Given the description of an element on the screen output the (x, y) to click on. 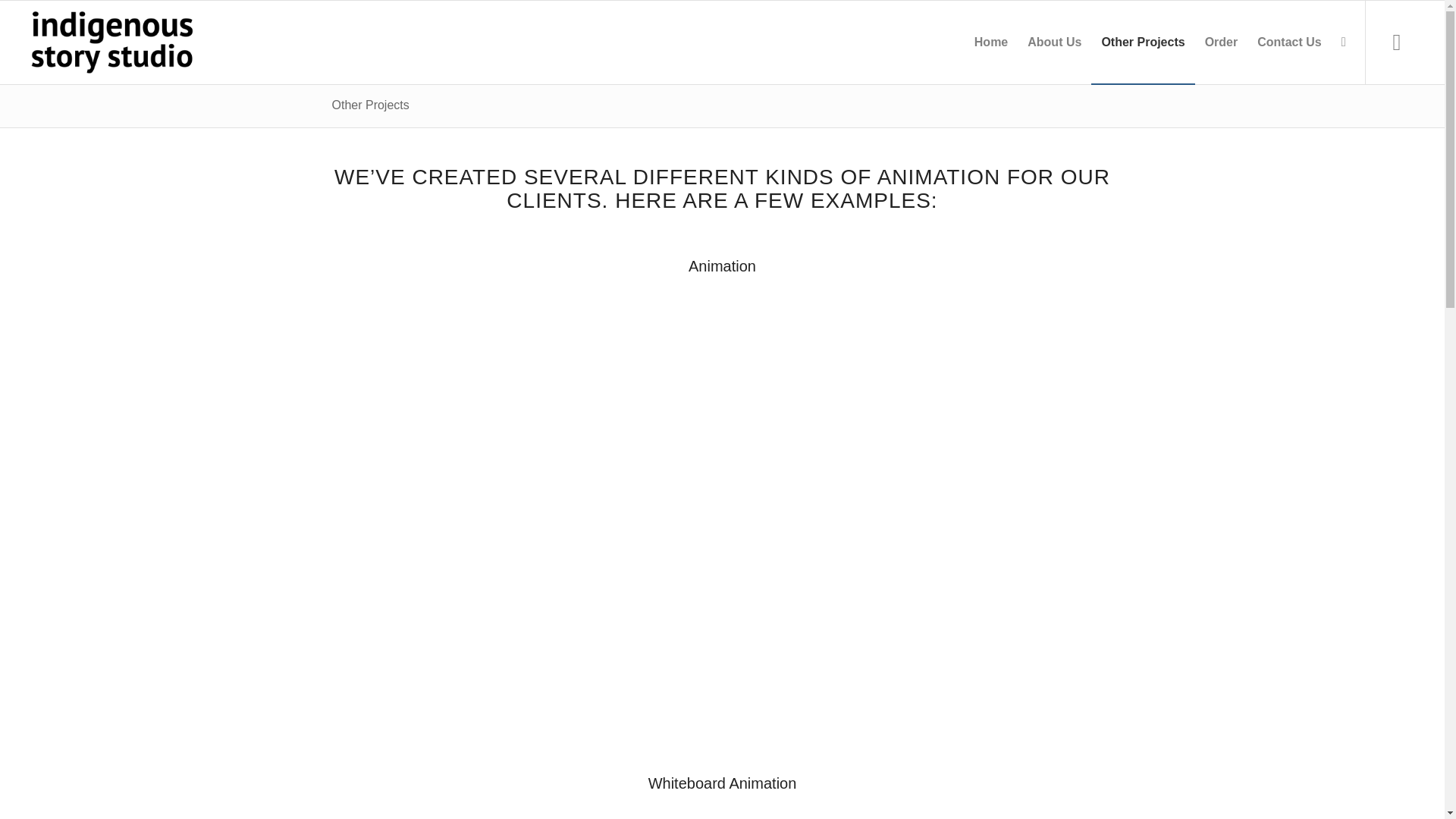
Other Projects (1141, 42)
Permanent Link: Other Projects (370, 104)
Contact Us (1288, 42)
Other Projects (370, 104)
Youtube (1396, 48)
